Given the description of an element on the screen output the (x, y) to click on. 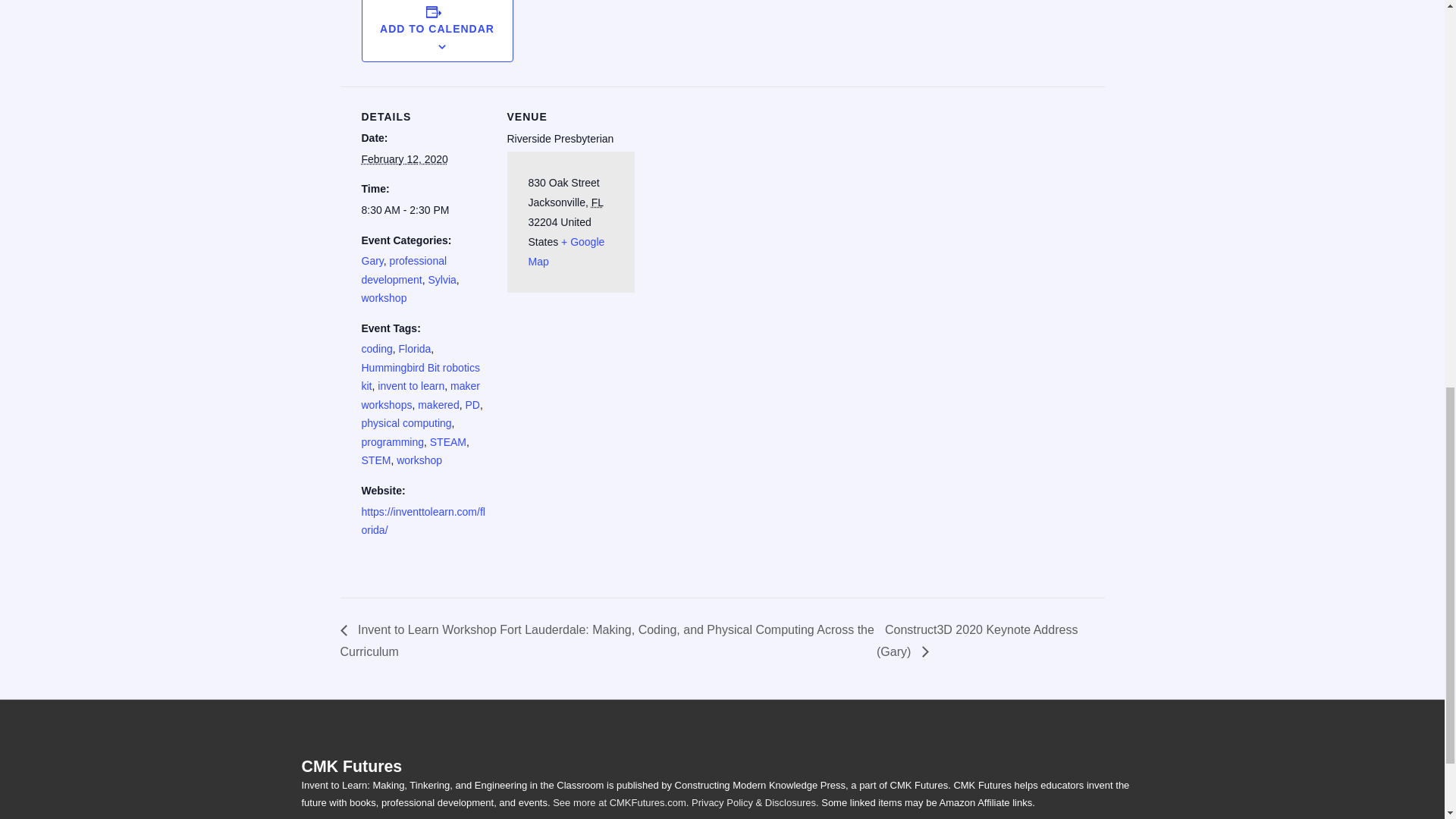
PD (471, 404)
Sylvia (441, 279)
Florida (414, 348)
Click to view a Google Map (565, 251)
physical computing (406, 422)
Hummingbird Bit robotics kit (420, 377)
STEAM (447, 441)
programming (392, 441)
Gary (371, 260)
